Given the description of an element on the screen output the (x, y) to click on. 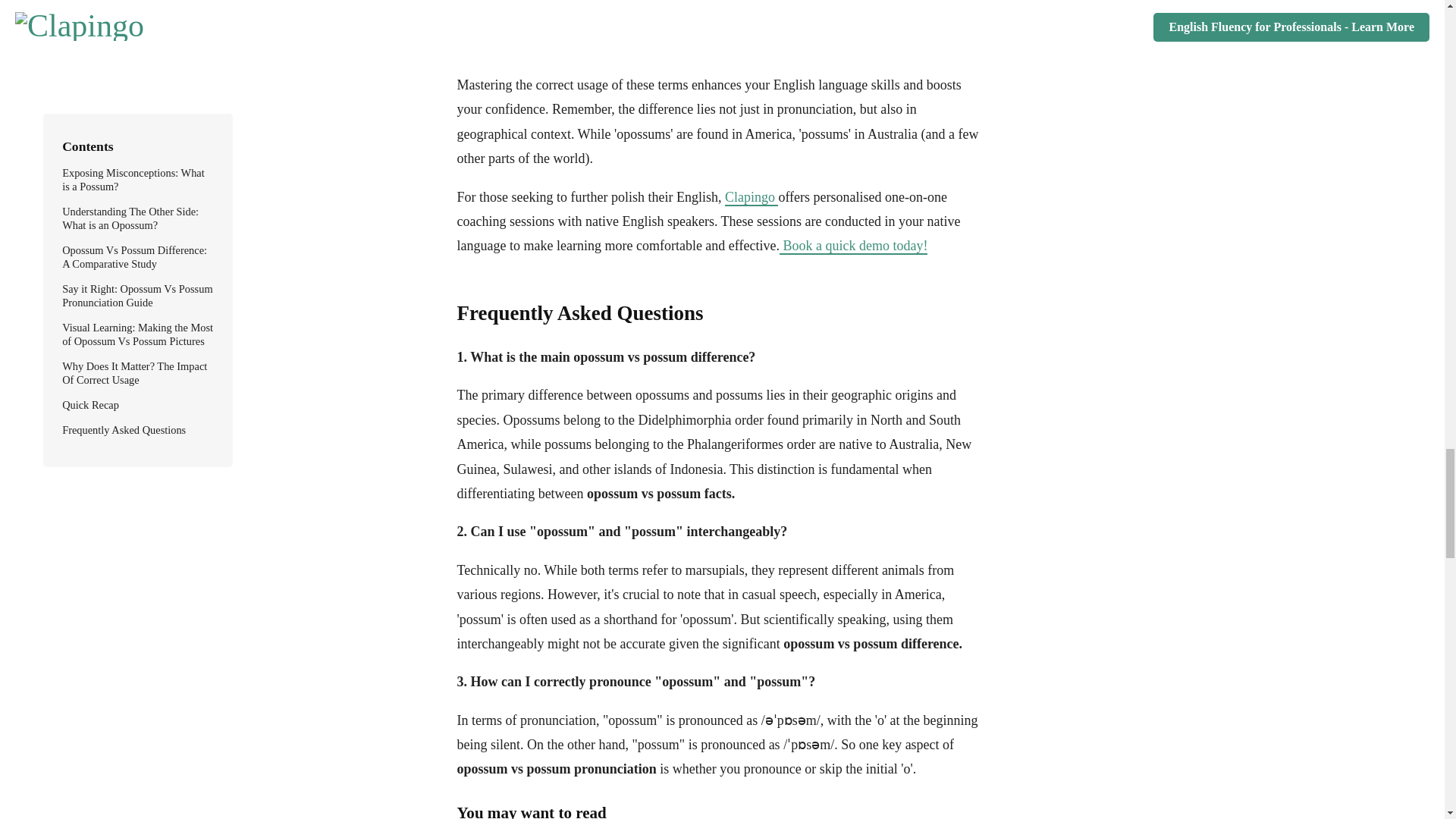
Book a quick demo today! (852, 246)
Clapingo (751, 197)
